Given the description of an element on the screen output the (x, y) to click on. 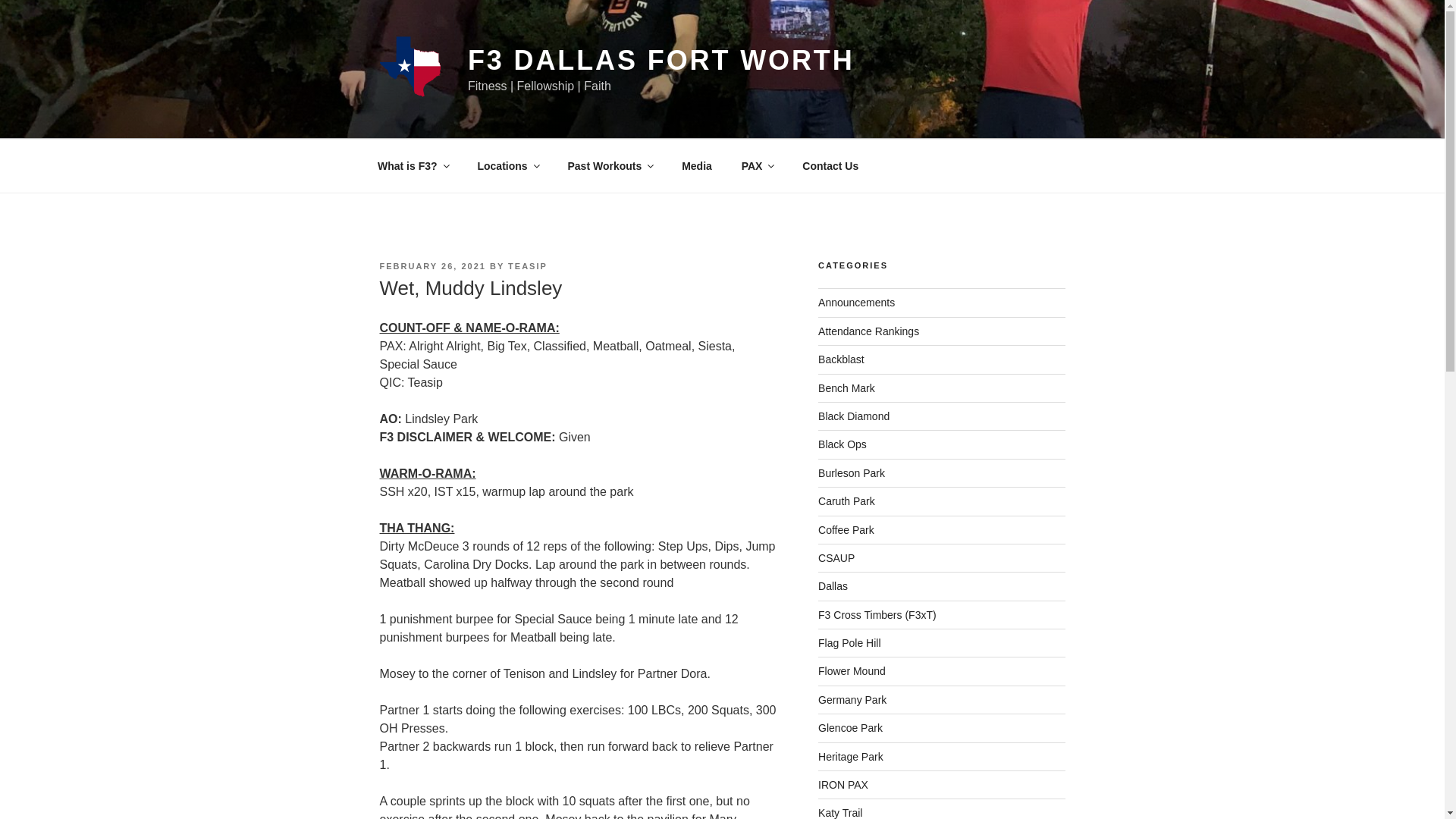
TEASIP (527, 266)
Past Workouts (609, 165)
Locations (507, 165)
F3 DALLAS FORT WORTH (660, 60)
PAX (757, 165)
What is F3? (412, 165)
Contact Us (830, 165)
FEBRUARY 26, 2021 (431, 266)
Media (696, 165)
